Given the description of an element on the screen output the (x, y) to click on. 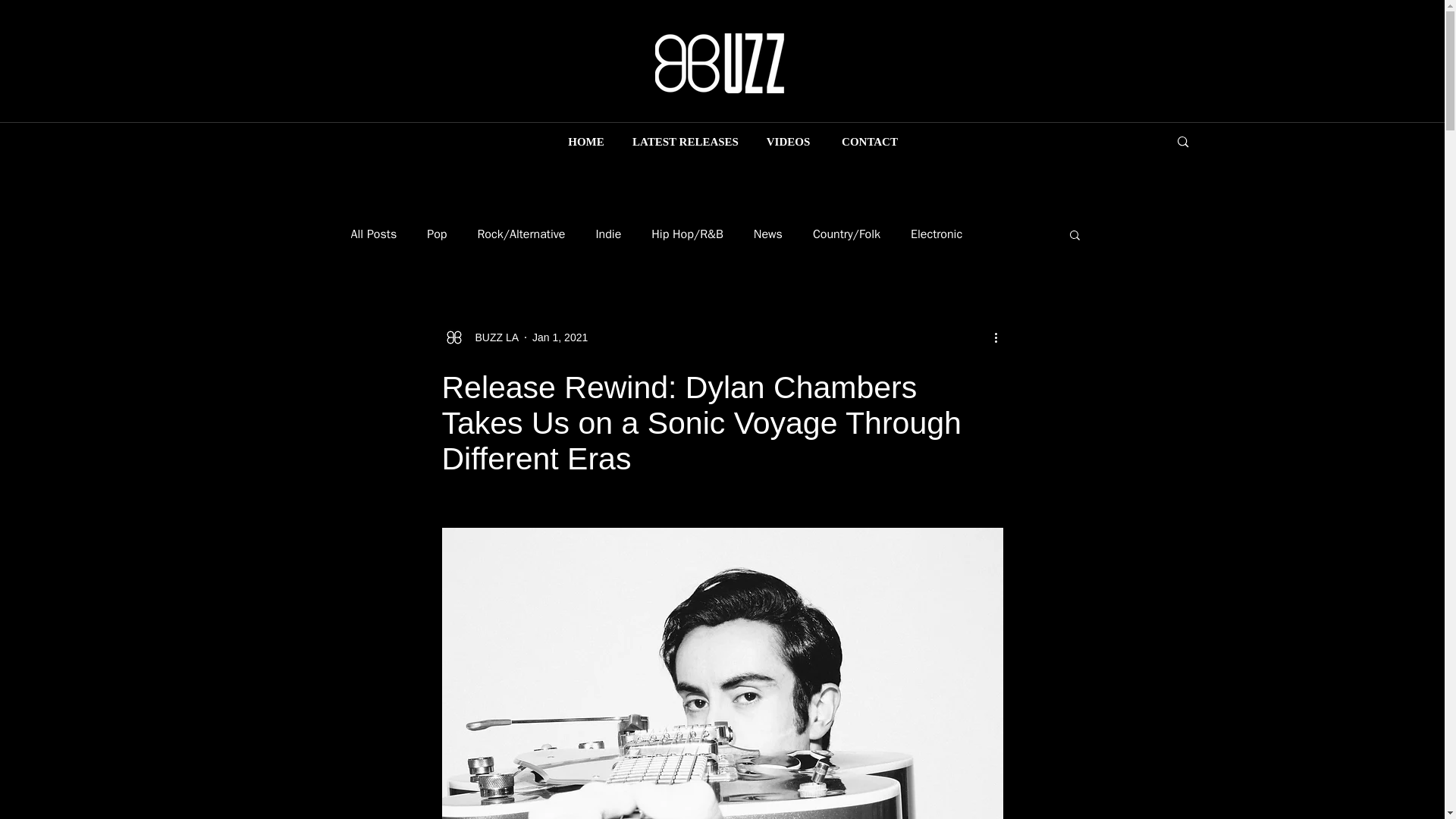
Jan 1, 2021 (560, 336)
All Posts (373, 233)
Pop (436, 233)
BUZZ LA (491, 336)
News (768, 233)
LATEST RELEASES (685, 141)
Indie (608, 233)
HOME (585, 141)
CONTACT (869, 141)
BUZZ LA (479, 337)
Electronic (936, 233)
VIDEOS (788, 141)
